Given the description of an element on the screen output the (x, y) to click on. 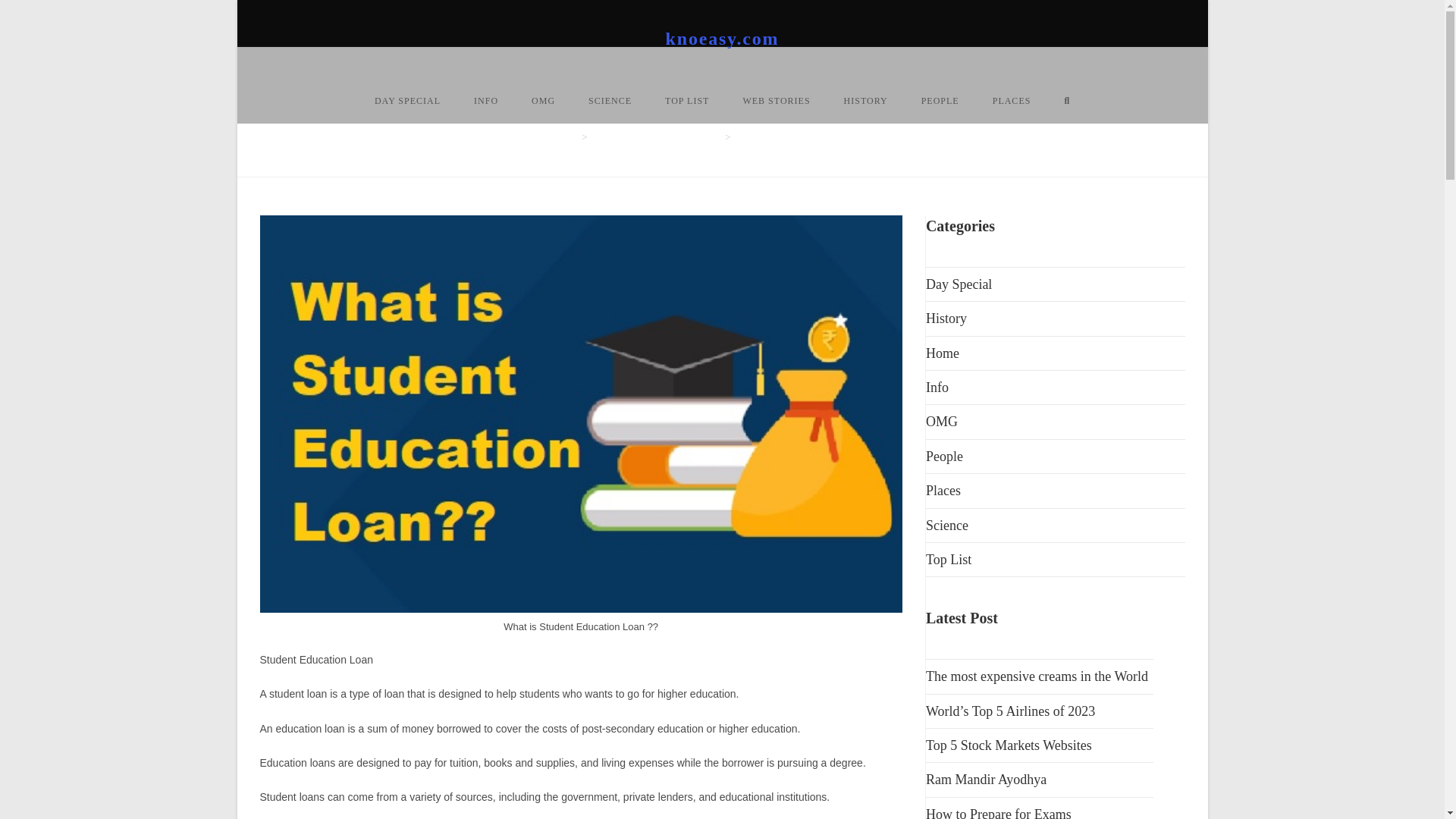
PLACES (1011, 100)
What Is Student Education Loan (656, 136)
PEOPLE (939, 100)
HISTORY (865, 100)
SCIENCE (609, 100)
TOP LIST (686, 100)
WEB STORIES (776, 100)
OMG (543, 100)
INFO (486, 100)
What Is Student Education Loan ? (802, 136)
